Given the description of an element on the screen output the (x, y) to click on. 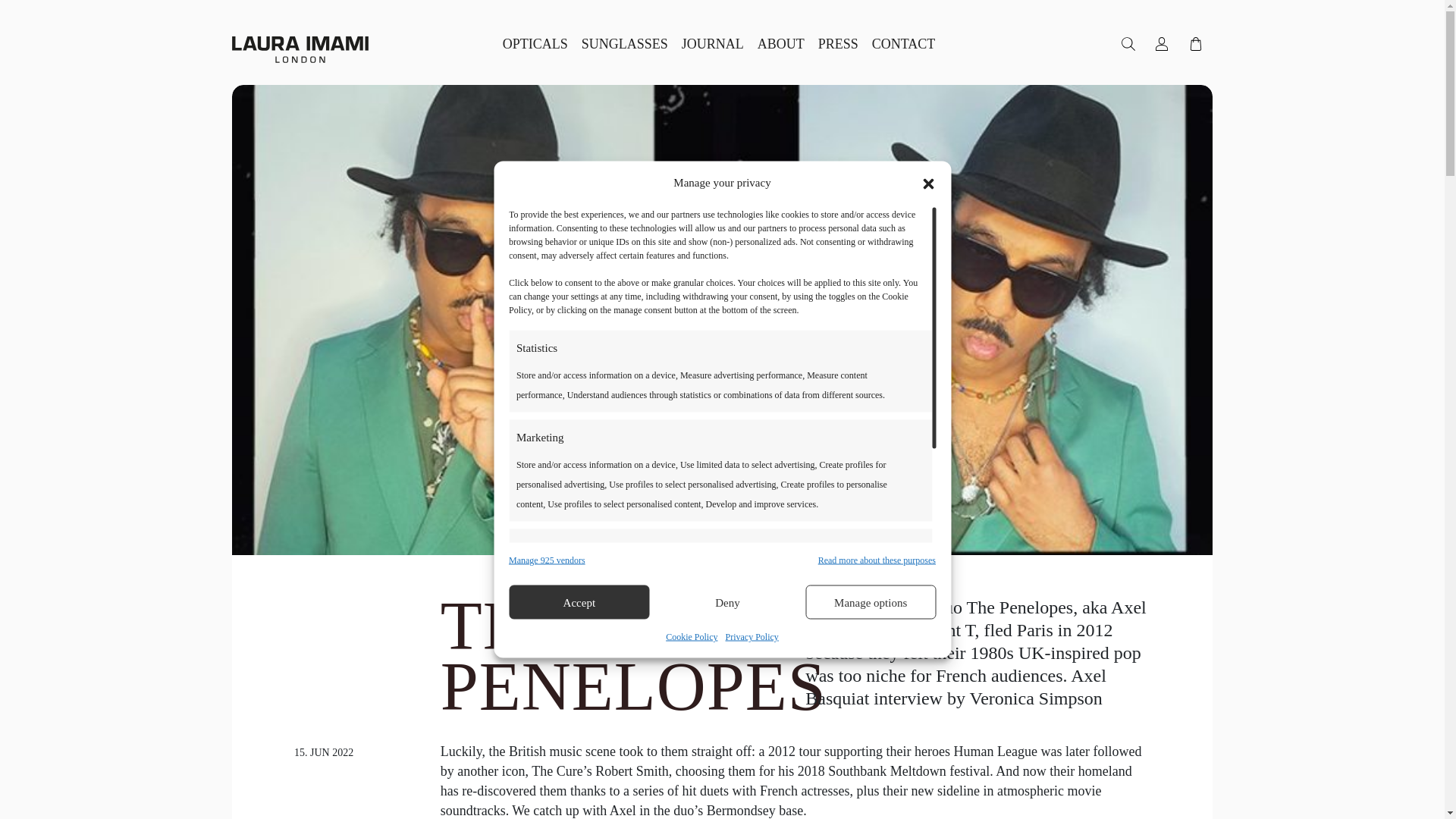
Cookie Policy (691, 636)
Read more about these purposes (877, 560)
JOURNAL (713, 43)
Privacy Policy (751, 636)
OPTICALS (535, 43)
SUNGLASSES (625, 43)
PRESS (837, 43)
Deny (727, 602)
Manage 925 vendors (546, 560)
Accept (578, 602)
CONTACT (903, 43)
ABOUT (780, 43)
Manage options (870, 602)
